Given the description of an element on the screen output the (x, y) to click on. 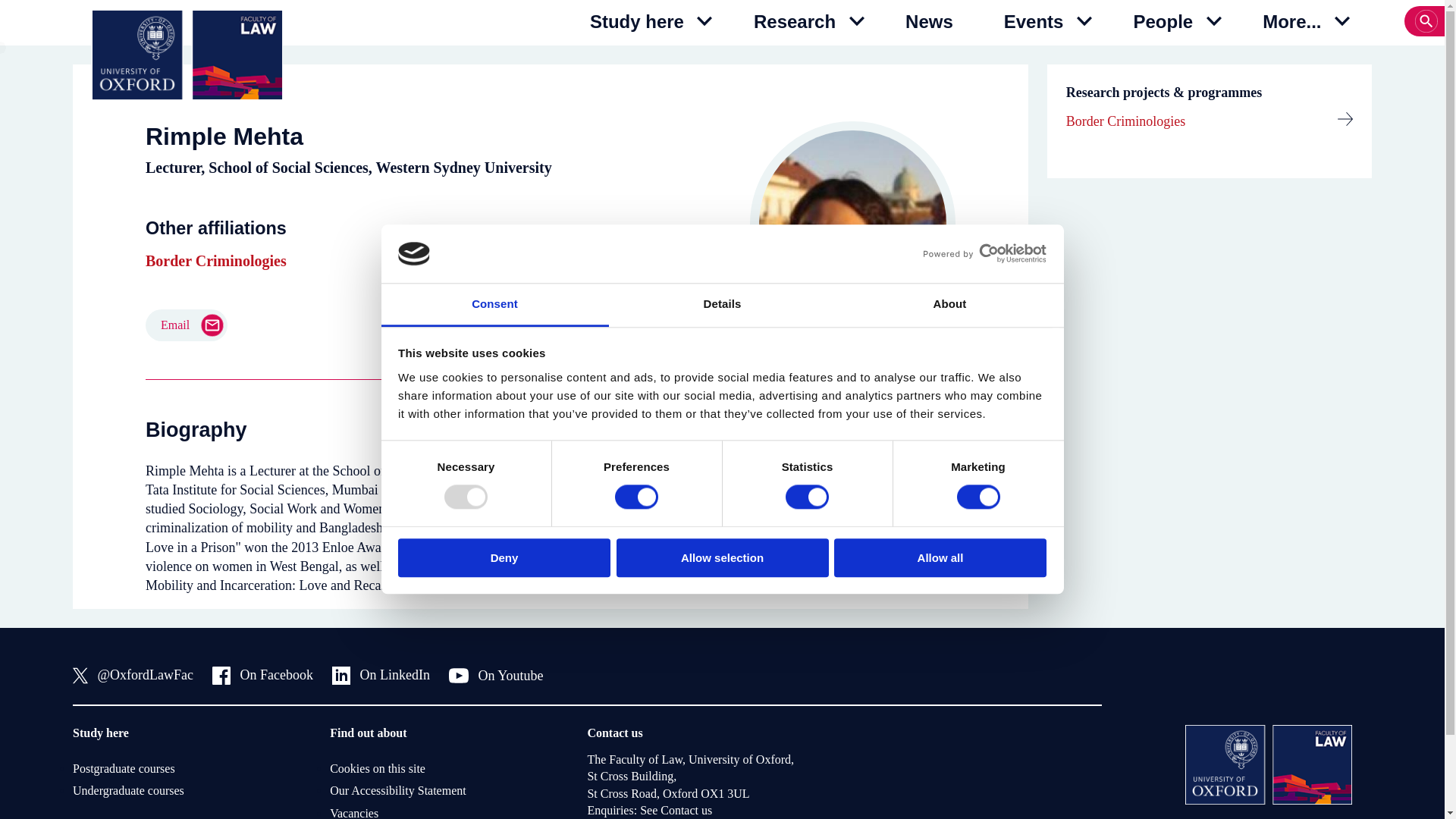
Allow all (940, 557)
About (948, 304)
Allow selection (721, 557)
Details (721, 304)
Consent (494, 304)
Deny (503, 557)
